Given the description of an element on the screen output the (x, y) to click on. 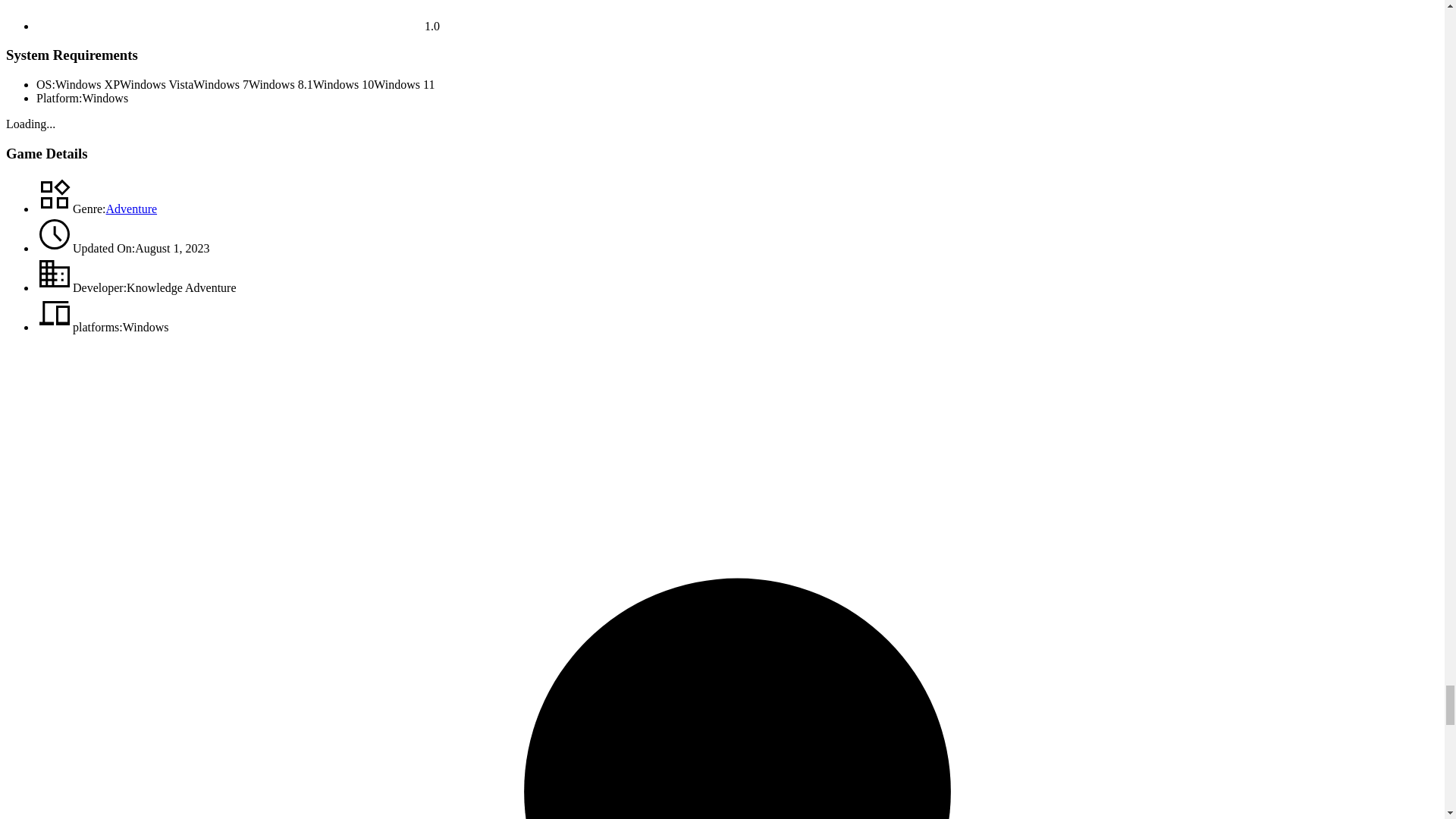
Adventure (131, 208)
